Given the description of an element on the screen output the (x, y) to click on. 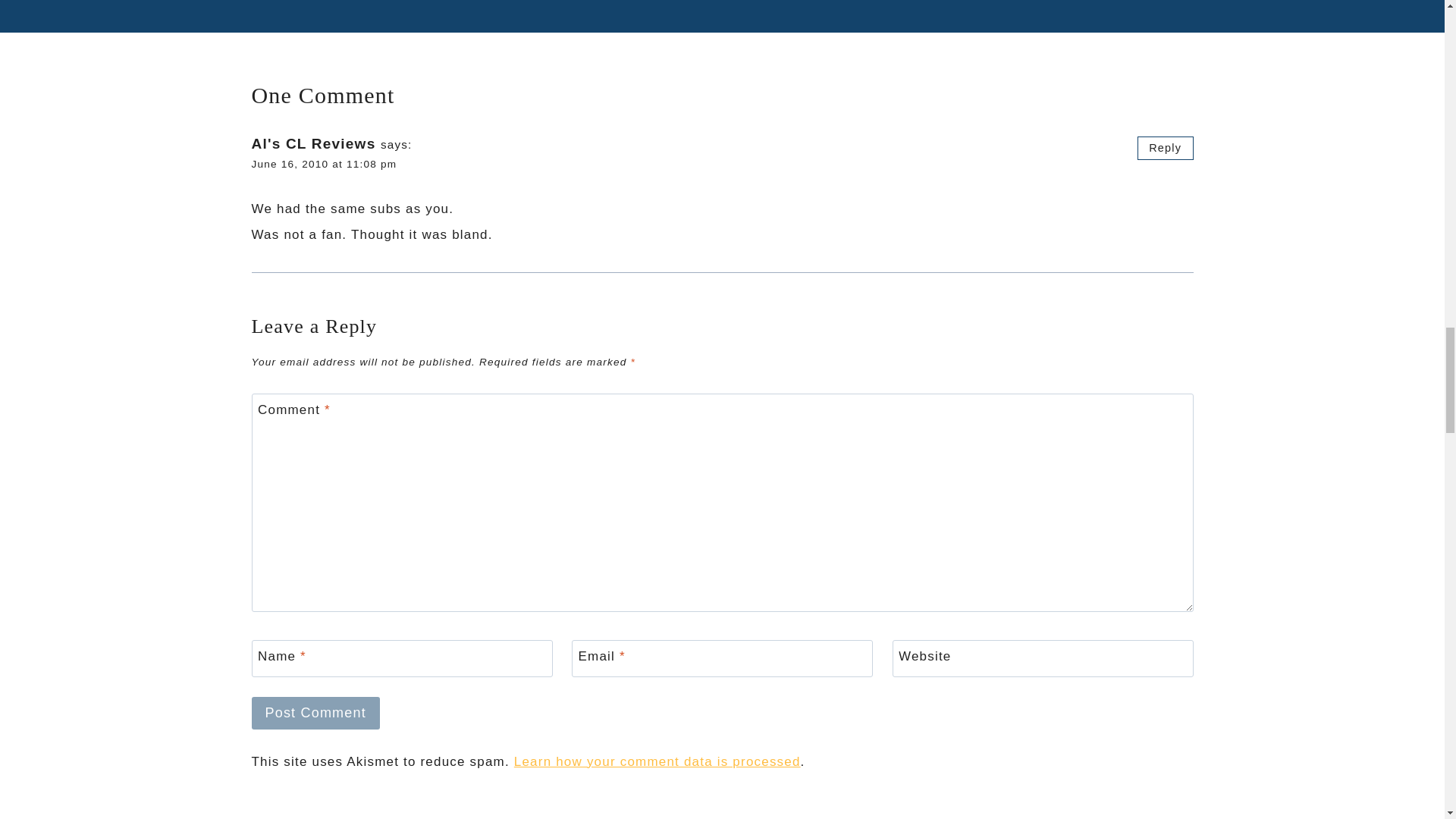
Post Comment (315, 712)
